Given the description of an element on the screen output the (x, y) to click on. 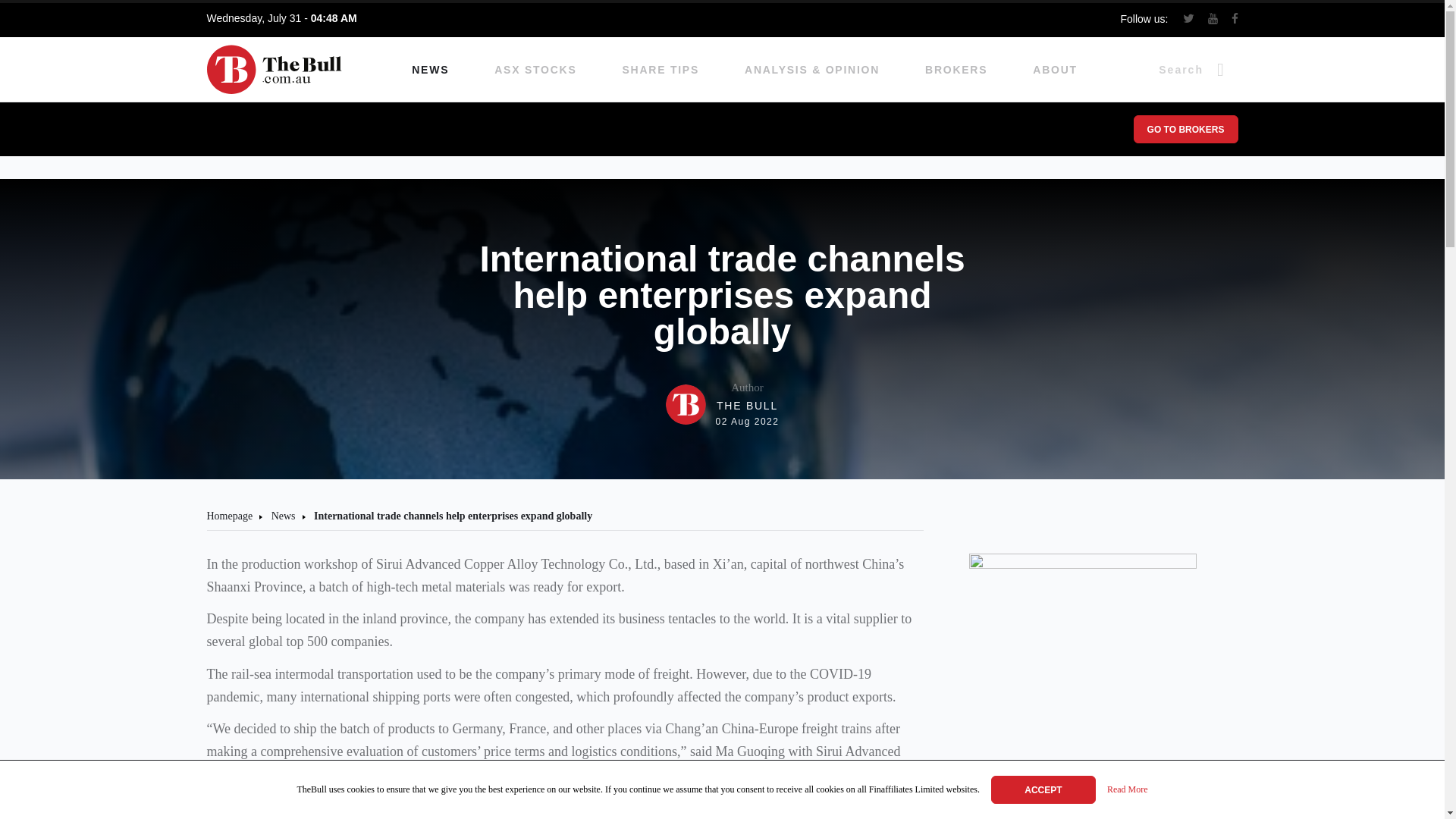
Homepage (228, 515)
Read More (1127, 789)
BROKERS (955, 69)
GO TO BROKERS (1184, 129)
ASX STOCKS (535, 69)
News (282, 515)
ABOUT (1054, 69)
NEWS (430, 69)
ACCEPT (721, 403)
SHARE TIPS (1043, 789)
